Given the description of an element on the screen output the (x, y) to click on. 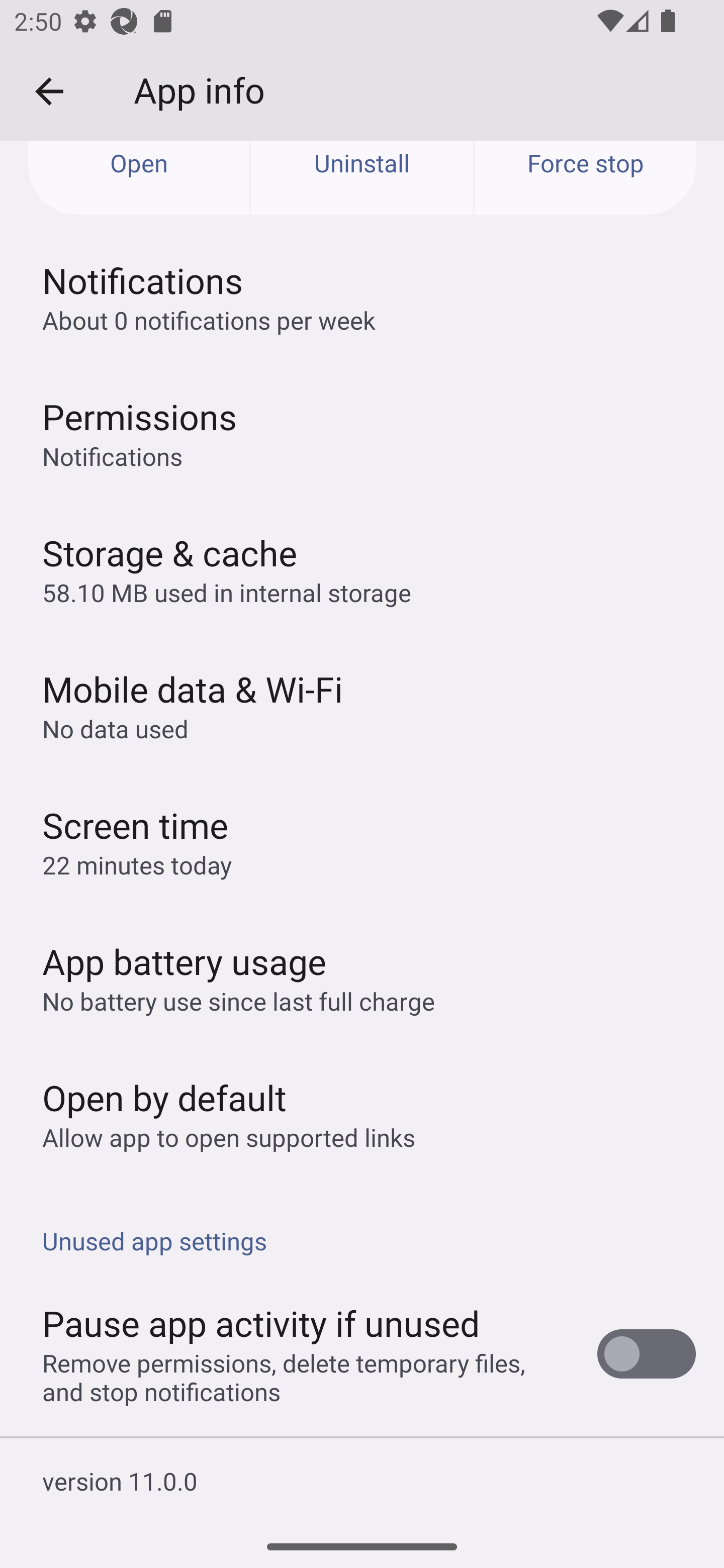
Navigate up (49, 91)
Open (138, 177)
Uninstall (361, 177)
Force stop (584, 177)
Notifications About 0 notifications per week (362, 296)
Permissions Notifications (362, 433)
Storage & cache 58.10 MB used in internal storage (362, 568)
Mobile data & Wi‑Fi No data used (362, 704)
Screen time 22 minutes today (362, 841)
Open by default Allow app to open supported links (362, 1113)
